Given the description of an element on the screen output the (x, y) to click on. 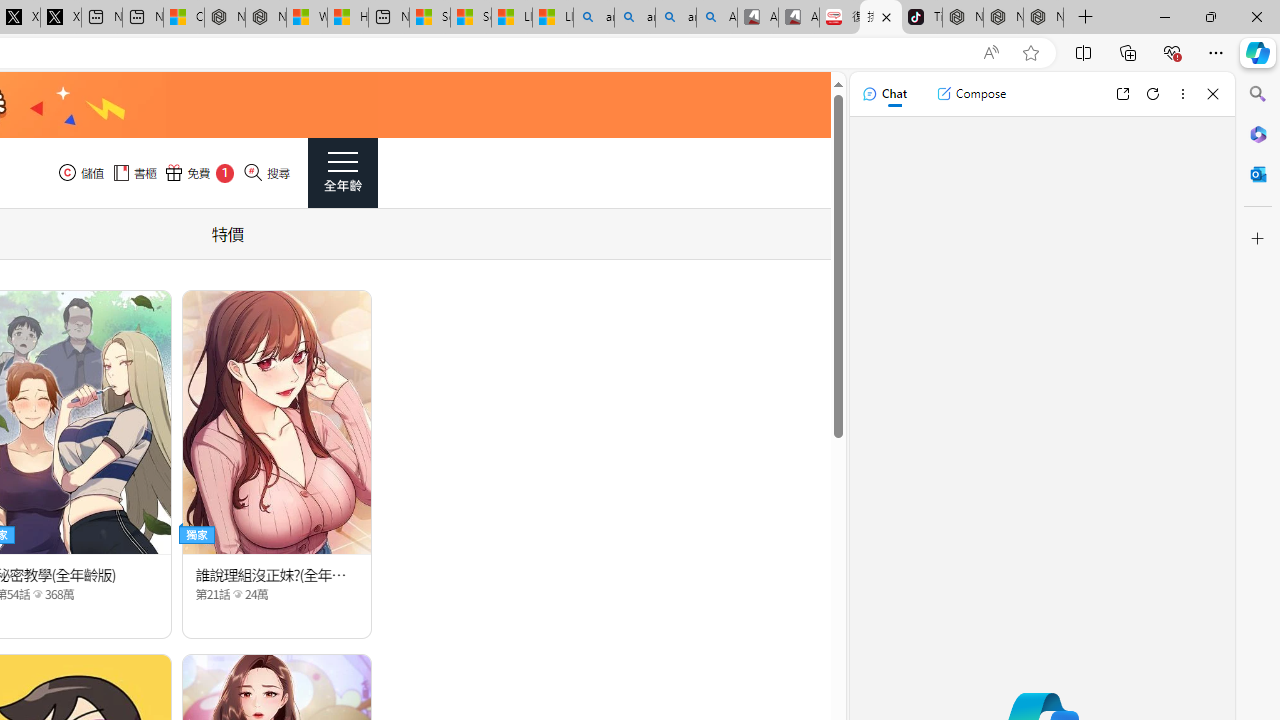
Class: thumb_img (277, 422)
amazon - Search Images (675, 17)
Nordace - Siena Pro 15 Essential Set (1043, 17)
Open link in new tab (1122, 93)
